Given the description of an element on the screen output the (x, y) to click on. 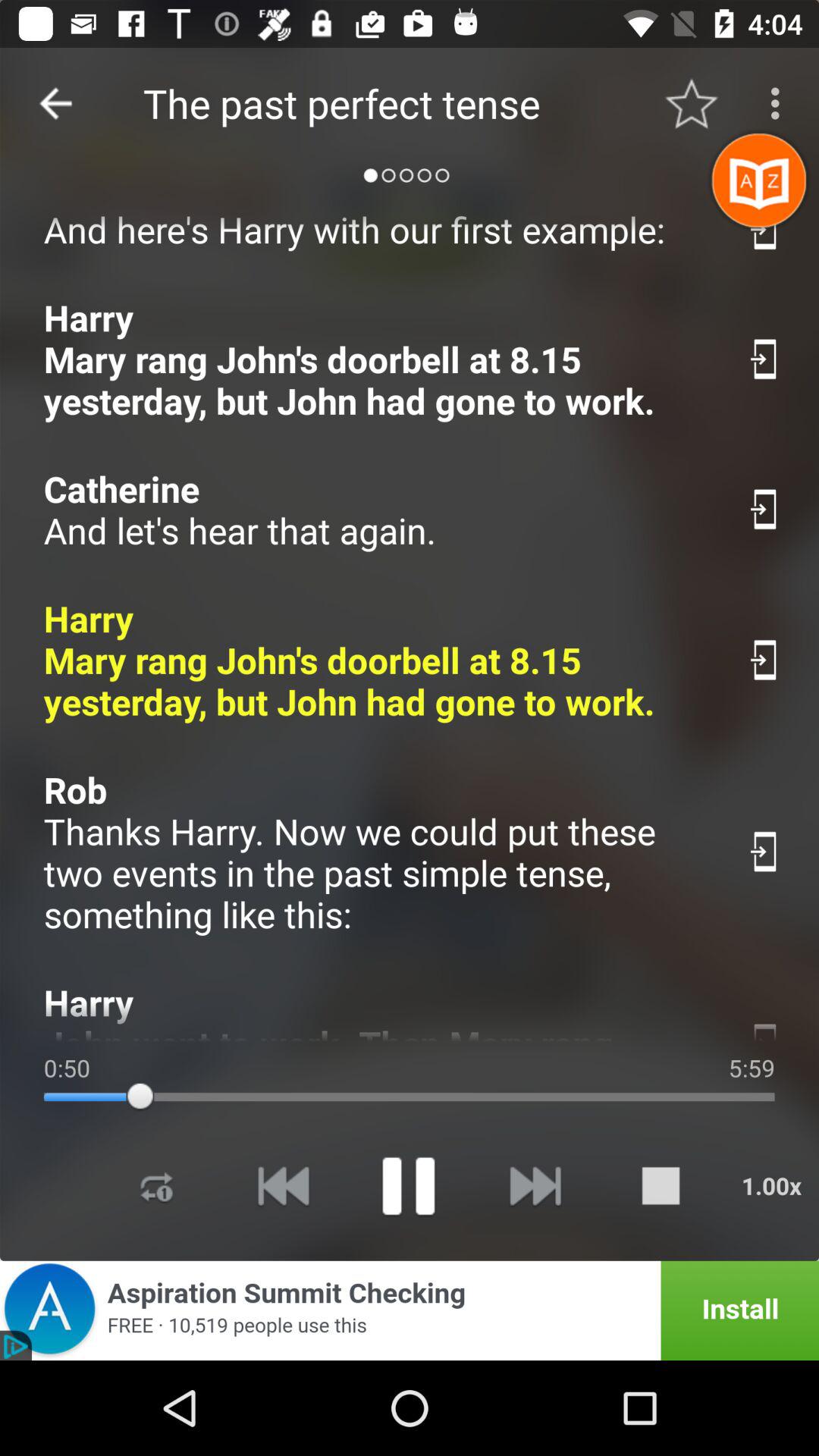
share the article (765, 509)
